Given the description of an element on the screen output the (x, y) to click on. 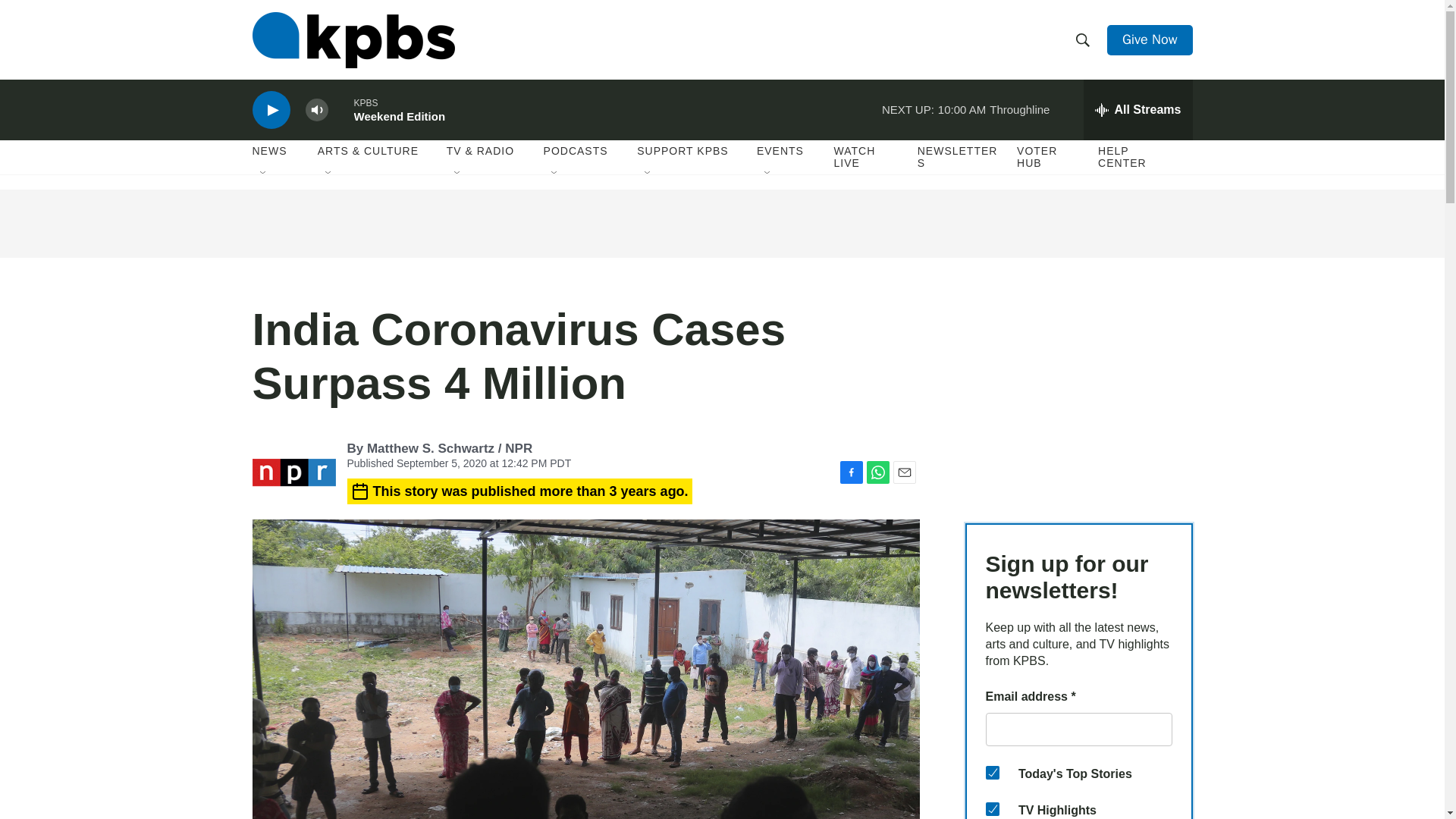
5 (991, 808)
4 (991, 772)
3rd party ad content (721, 223)
3rd party ad content (1077, 398)
